Given the description of an element on the screen output the (x, y) to click on. 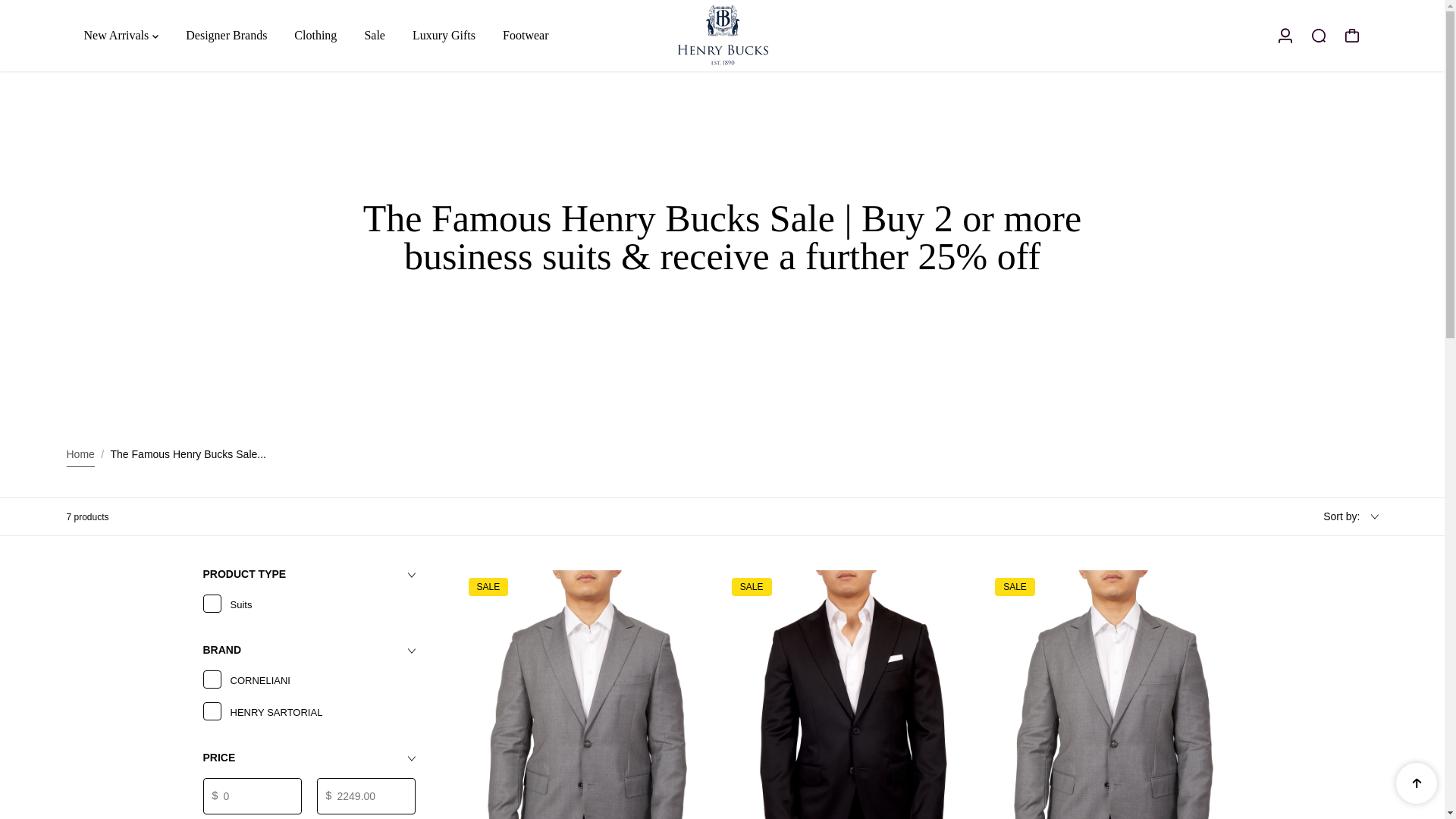
New Arrivals (120, 35)
Luxury Gifts (443, 35)
Designer Brands (226, 35)
CORNELIANI (212, 680)
Home (80, 454)
Footwear (525, 35)
Home (80, 454)
Sale (374, 35)
Search (1318, 35)
HENRY SARTORIAL (212, 712)
